Given the description of an element on the screen output the (x, y) to click on. 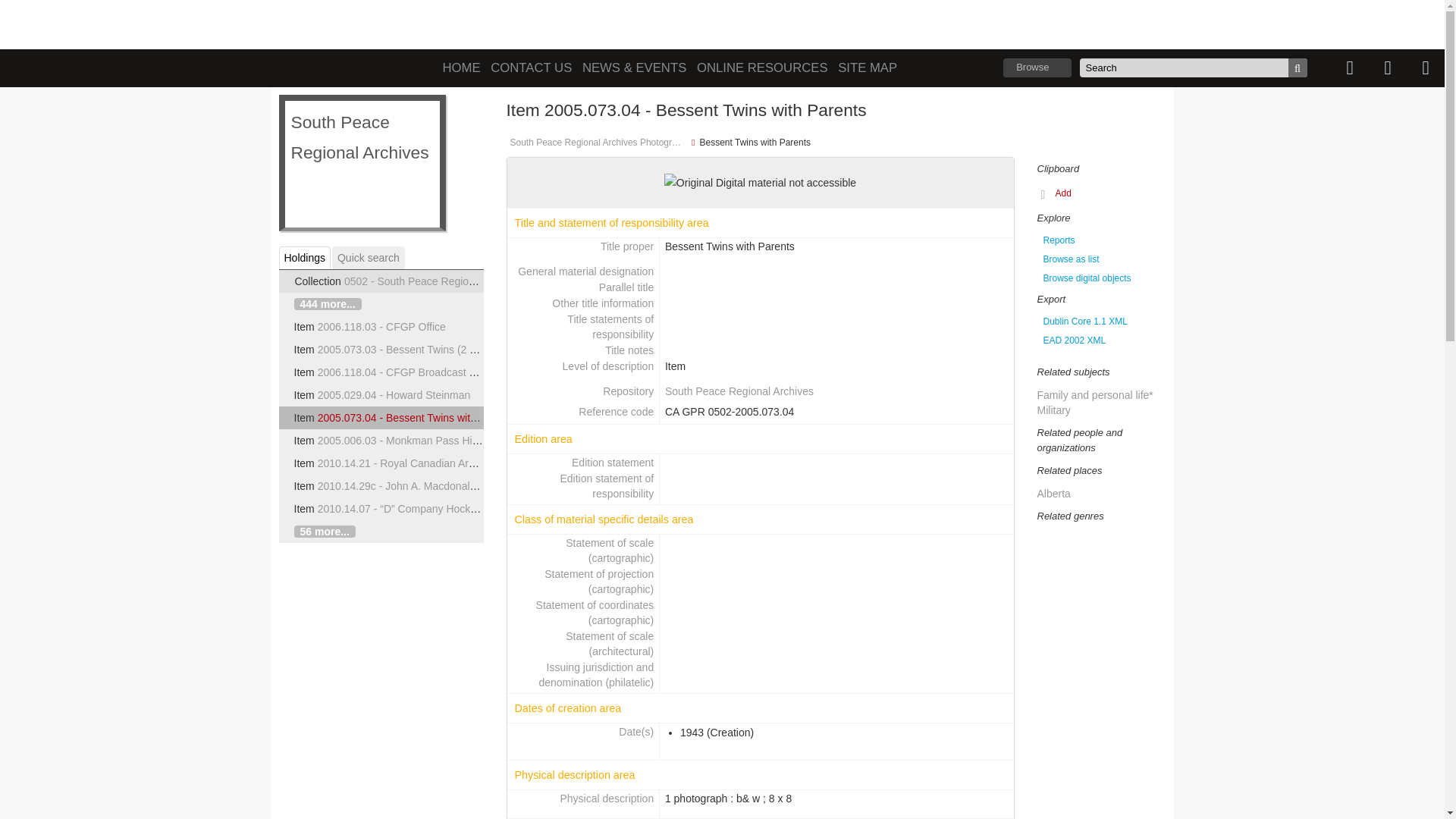
2010.14.21 - Royal Canadian Army Cadets Hockey Team Element type: text (451, 463)
Facebook Element type: text (631, 25)
2005.029.04 - Howard Steinman Element type: text (393, 395)
444 more... Element type: text (327, 304)
LinkedIn Element type: text (666, 25)
South Peace Regional Archives Element type: text (739, 391)
2005.006.03 - Monkman Pass Highway Association Work Crew Element type: text (466, 440)
Browse digital objects Element type: text (1101, 277)
Alberta Element type: text (1053, 493)
NEWS & EVENTS Element type: text (634, 67)
Reports Element type: text (1101, 239)
CONTACT US Element type: text (530, 67)
HOME Element type: text (461, 67)
Military Element type: text (1053, 410)
2005.073.04 - Bessent Twins with Parents Element type: text (416, 417)
Dublin Core 1.1 XML Element type: text (1101, 320)
56 more... Element type: text (324, 531)
Quick links Element type: text (1425, 68)
SITE MAP Element type: text (867, 67)
Holdings Element type: text (304, 257)
South Peace Regional Archives Photograph collection Element type: text (597, 142)
Browse Element type: text (1036, 67)
0502 - South Peace Regional Archives Photograph collection Element type: text (487, 281)
2005.073.03 - Bessent Twins (2 yrs old) with Mother Elsie Element type: text (452, 349)
ONLINE RESOURCES Element type: text (762, 67)
South Peace Regional Archives Element type: text (381, 162)
Family and personal life* Element type: text (1095, 395)
EAD 2002 XML Element type: text (1101, 339)
Add Element type: text (1056, 193)
2006.118.04 - CFGP Broadcast Booth Element type: text (406, 372)
Clipboard Element type: text (1349, 68)
2006.118.03 - CFGP Office Element type: text (381, 326)
Language Element type: text (1387, 68)
Browse as list Element type: text (1101, 258)
Archives Society of Alberta Element type: text (519, 22)
Quick search Element type: text (368, 257)
